Given the description of an element on the screen output the (x, y) to click on. 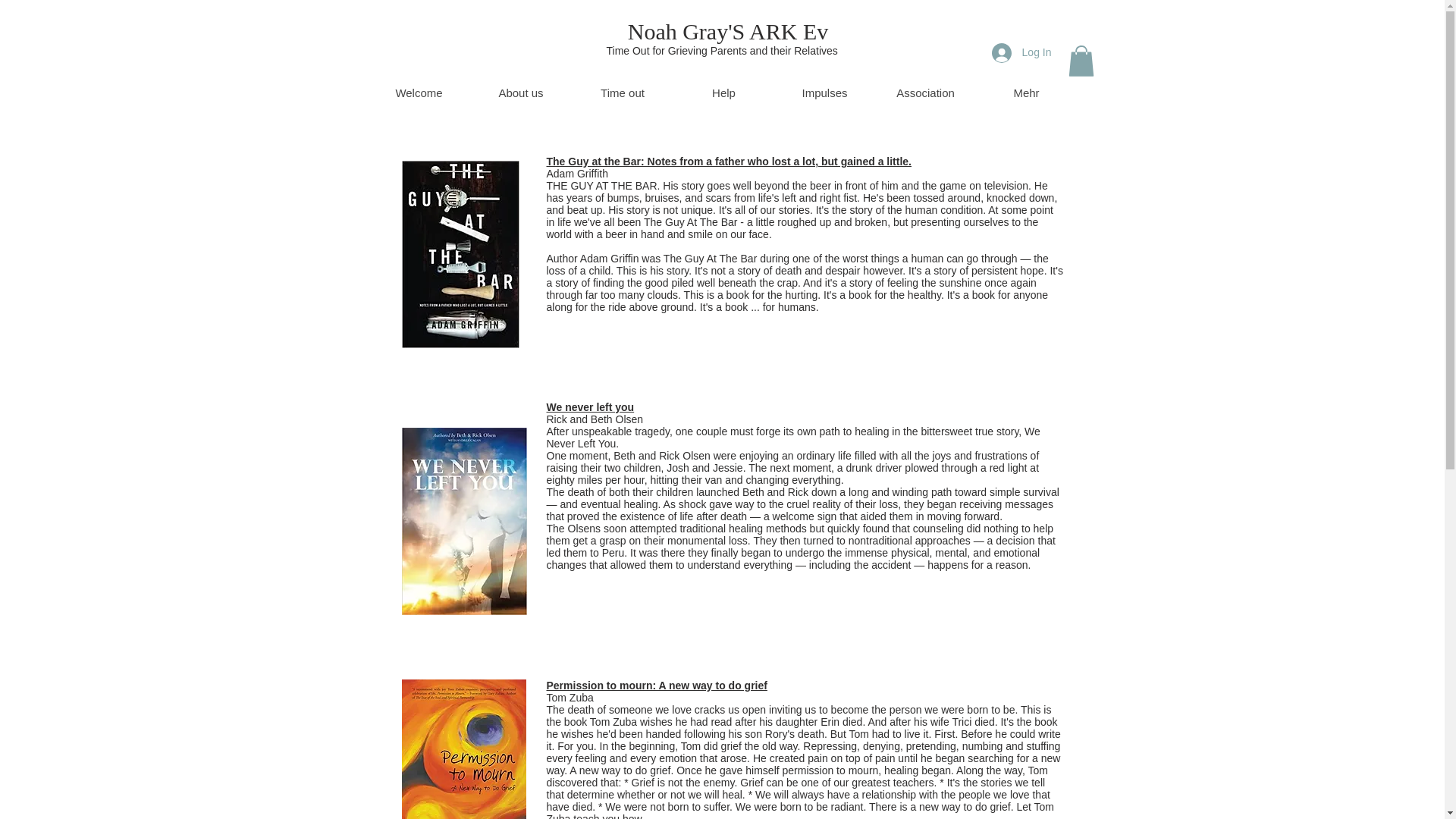
Log In (1021, 52)
Association (925, 92)
Permission to mourn: A new way to do grief (656, 685)
About us (521, 92)
We never left you (589, 407)
Welcome (419, 92)
Impulses (824, 92)
Help (723, 92)
Time out (622, 92)
